Given the description of an element on the screen output the (x, y) to click on. 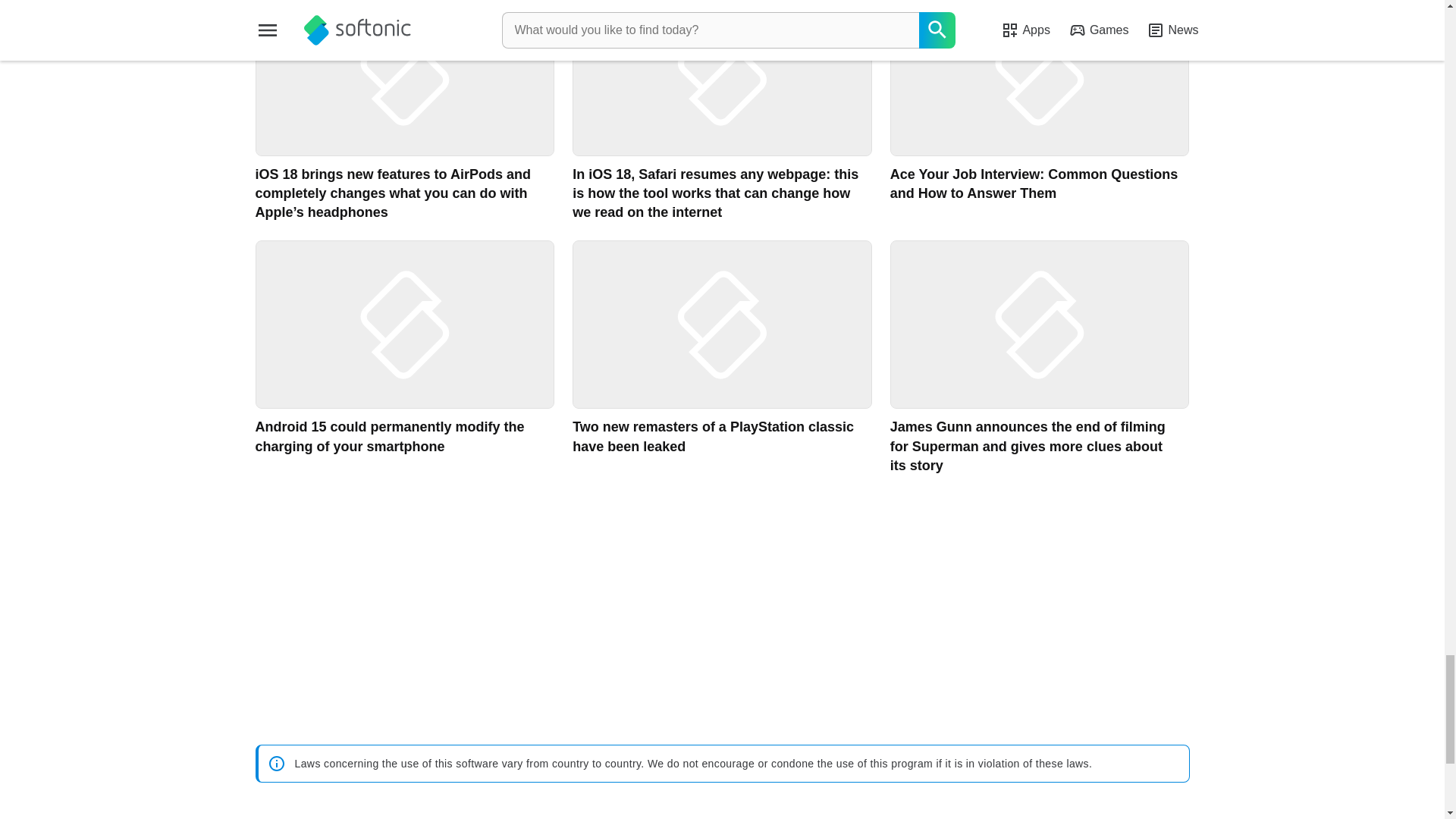
Two new remasters of a PlayStation classic have been leaked (721, 357)
